Given the description of an element on the screen output the (x, y) to click on. 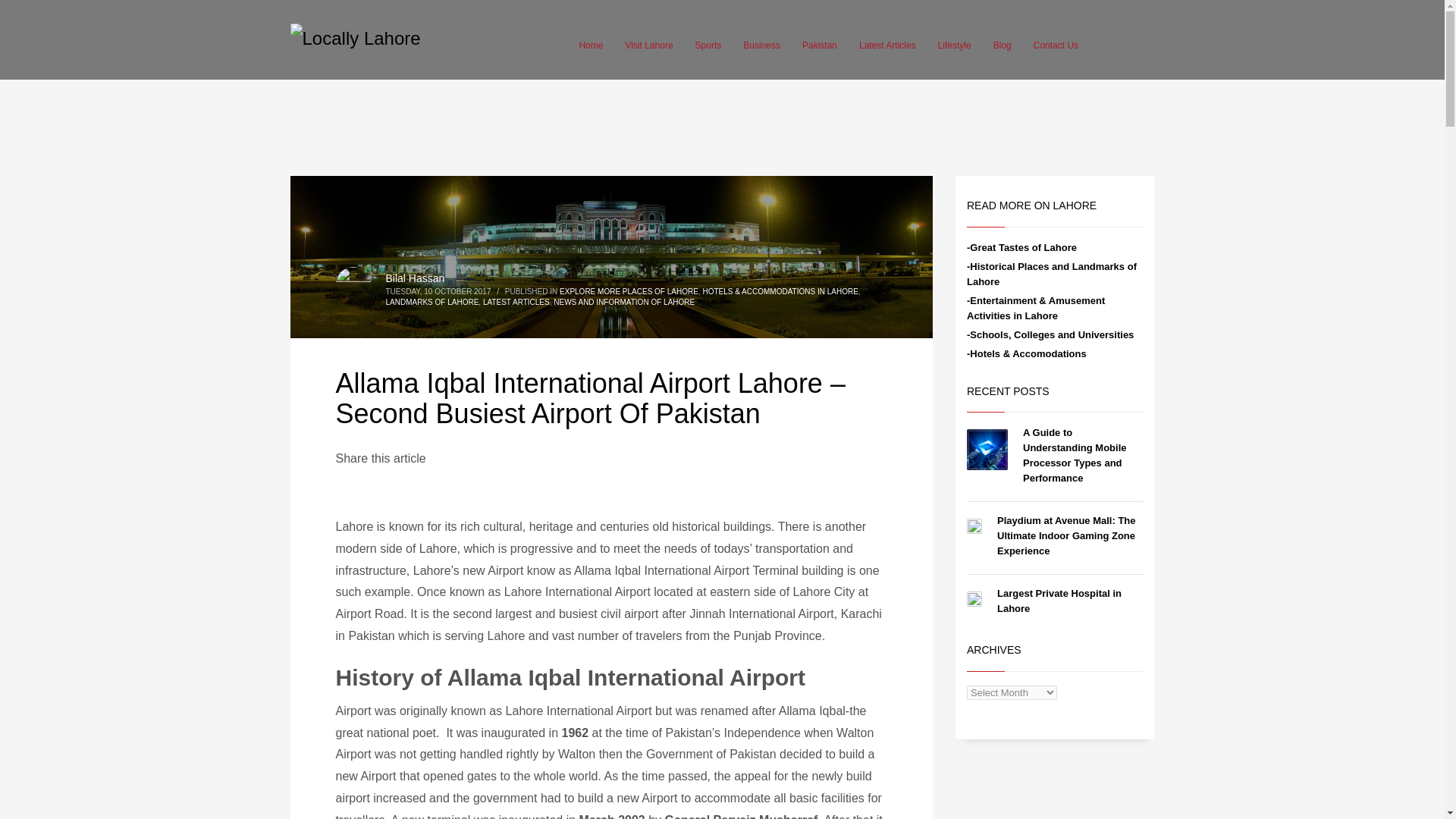
Home (590, 44)
Sports (707, 44)
Lifestyle (953, 44)
Latest Articles (887, 44)
Business (761, 44)
Largest Private Hospital in Lahore (1059, 601)
Posts by Bilal Hassan (414, 277)
Contact Us (1056, 44)
Visit Lahore (648, 44)
c2f2e4be89c035de8c63280bb336088c (611, 257)
Pakistan (819, 44)
Blog (1002, 44)
